Given the description of an element on the screen output the (x, y) to click on. 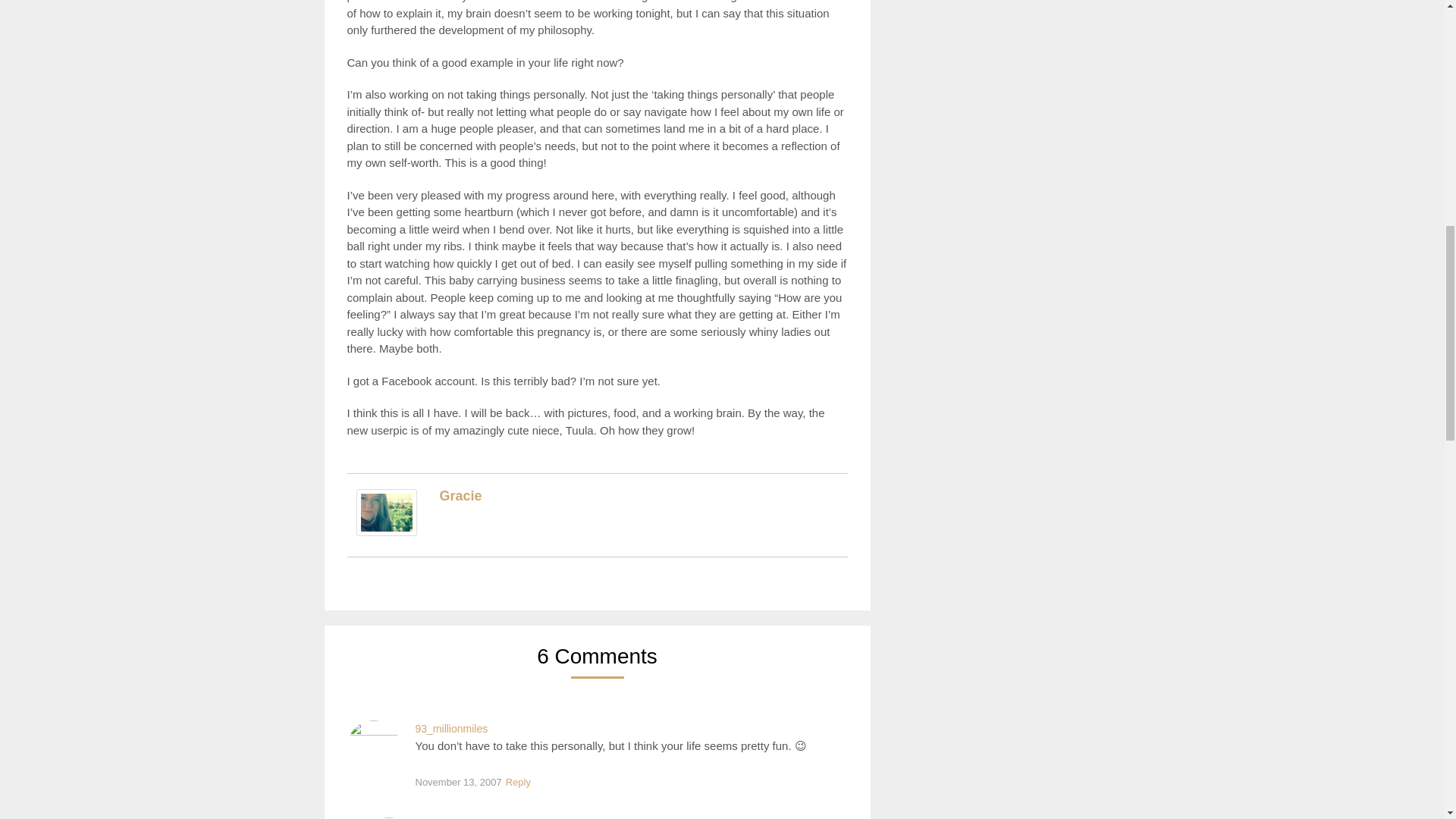
Gracie (460, 495)
Gracie (386, 531)
Reply (518, 782)
